Given the description of an element on the screen output the (x, y) to click on. 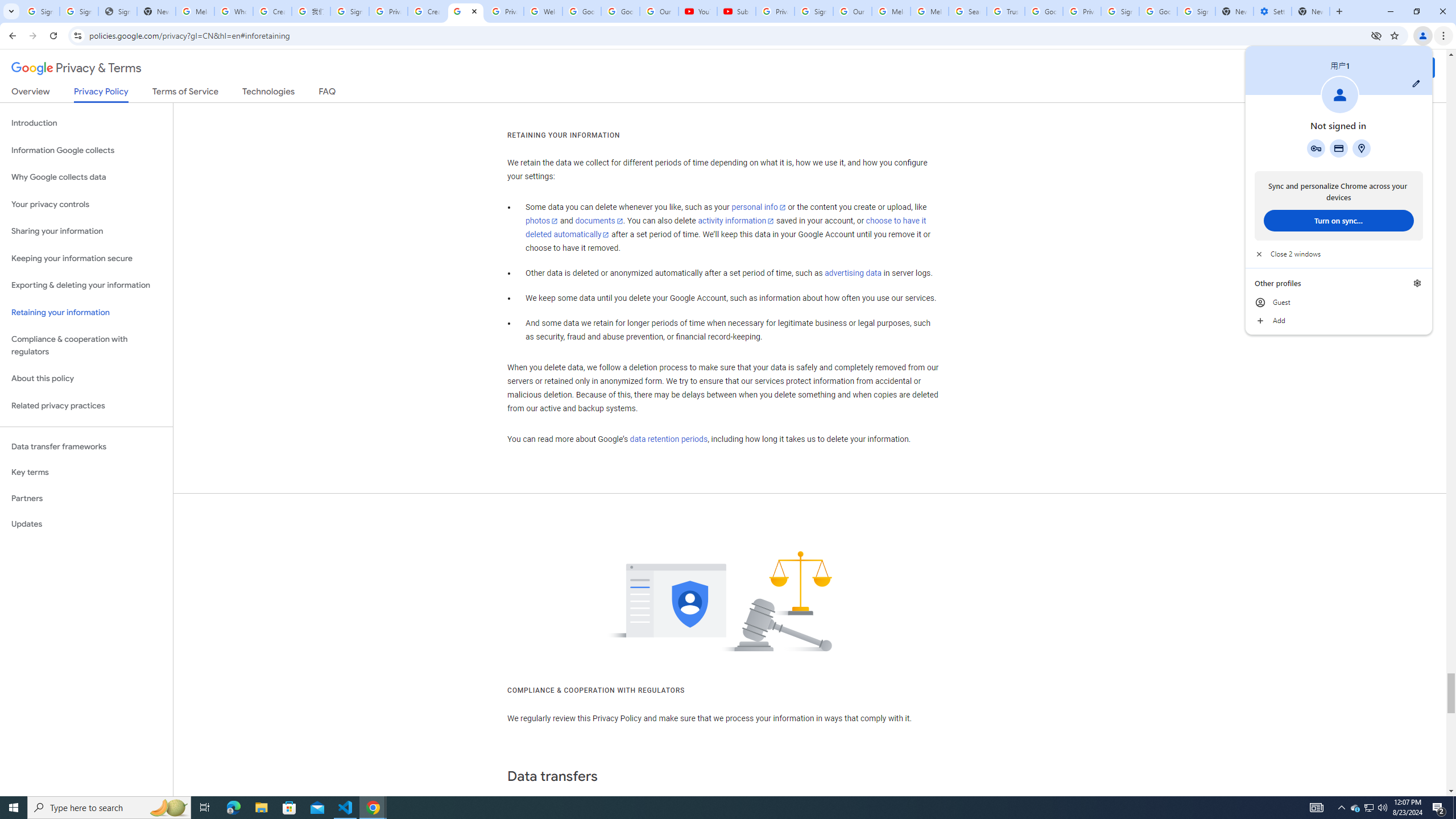
Add (1338, 321)
Search highlights icon opens search home window (167, 807)
About this policy (86, 379)
Visual Studio Code - 1 running window (345, 807)
Google Chrome - 2 running windows (373, 807)
Create your Google Account (427, 11)
Exporting & deleting your information (86, 284)
Sign in - Google Accounts (79, 11)
